Given the description of an element on the screen output the (x, y) to click on. 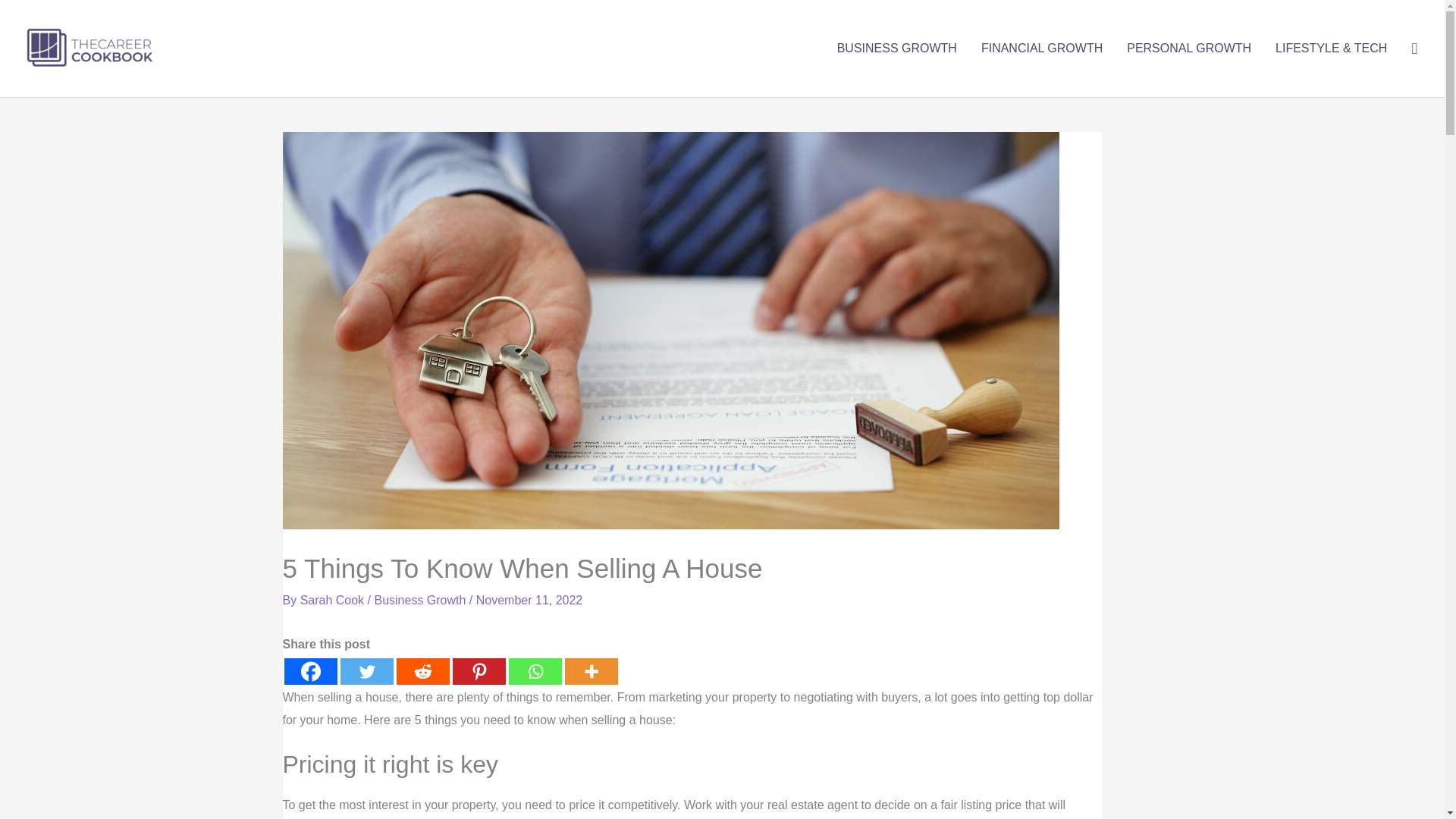
FINANCIAL GROWTH (1042, 48)
View all posts by Sarah Cook (333, 599)
Reddit (422, 671)
Facebook (309, 671)
Business Growth (419, 599)
PERSONAL GROWTH (1189, 48)
Twitter (366, 671)
BUSINESS GROWTH (897, 48)
Pinterest (478, 671)
Whatsapp (534, 671)
